Given the description of an element on the screen output the (x, y) to click on. 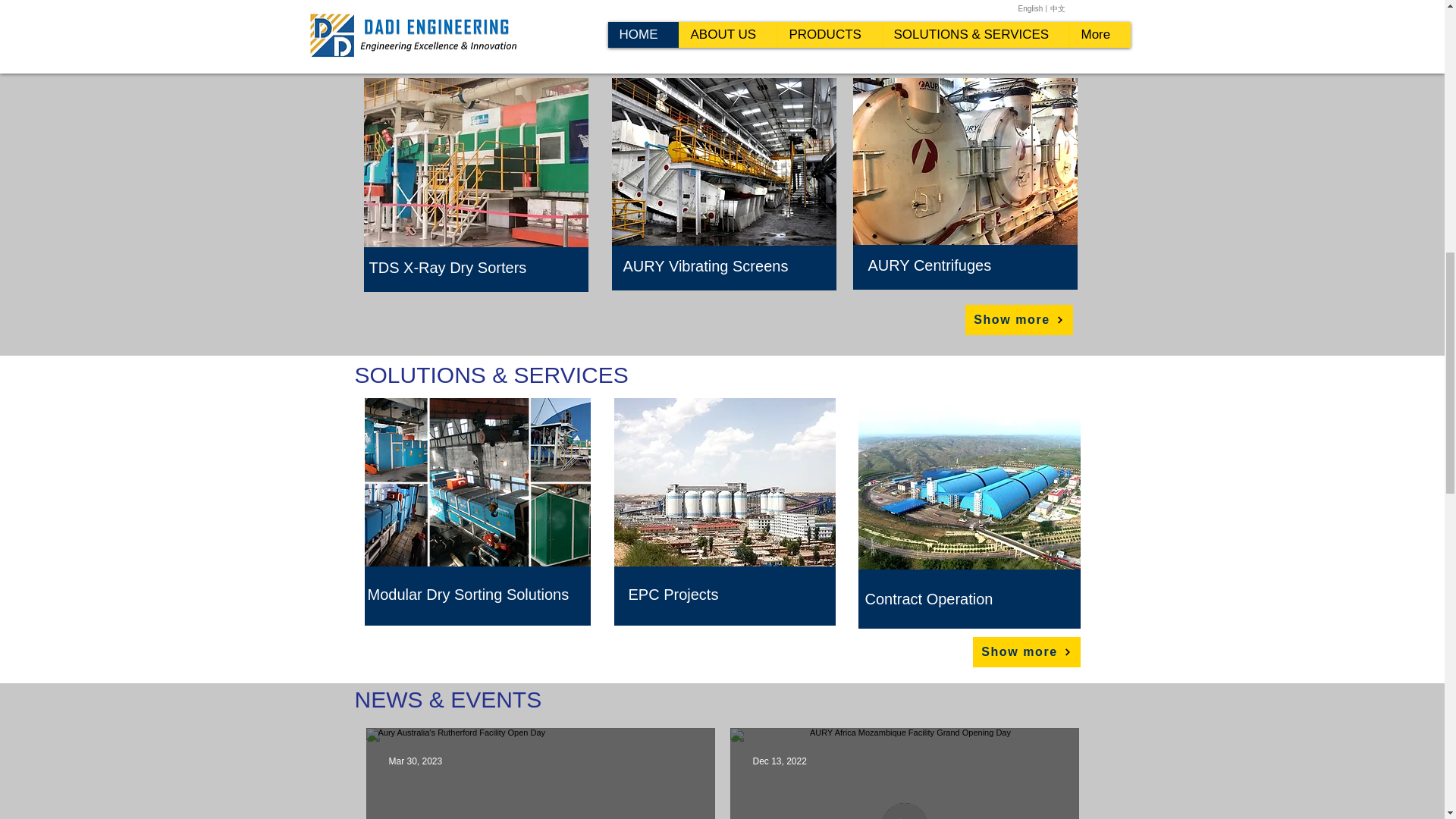
Dec 13, 2022 (779, 760)
Mar 30, 2023 (415, 760)
